Given the description of an element on the screen output the (x, y) to click on. 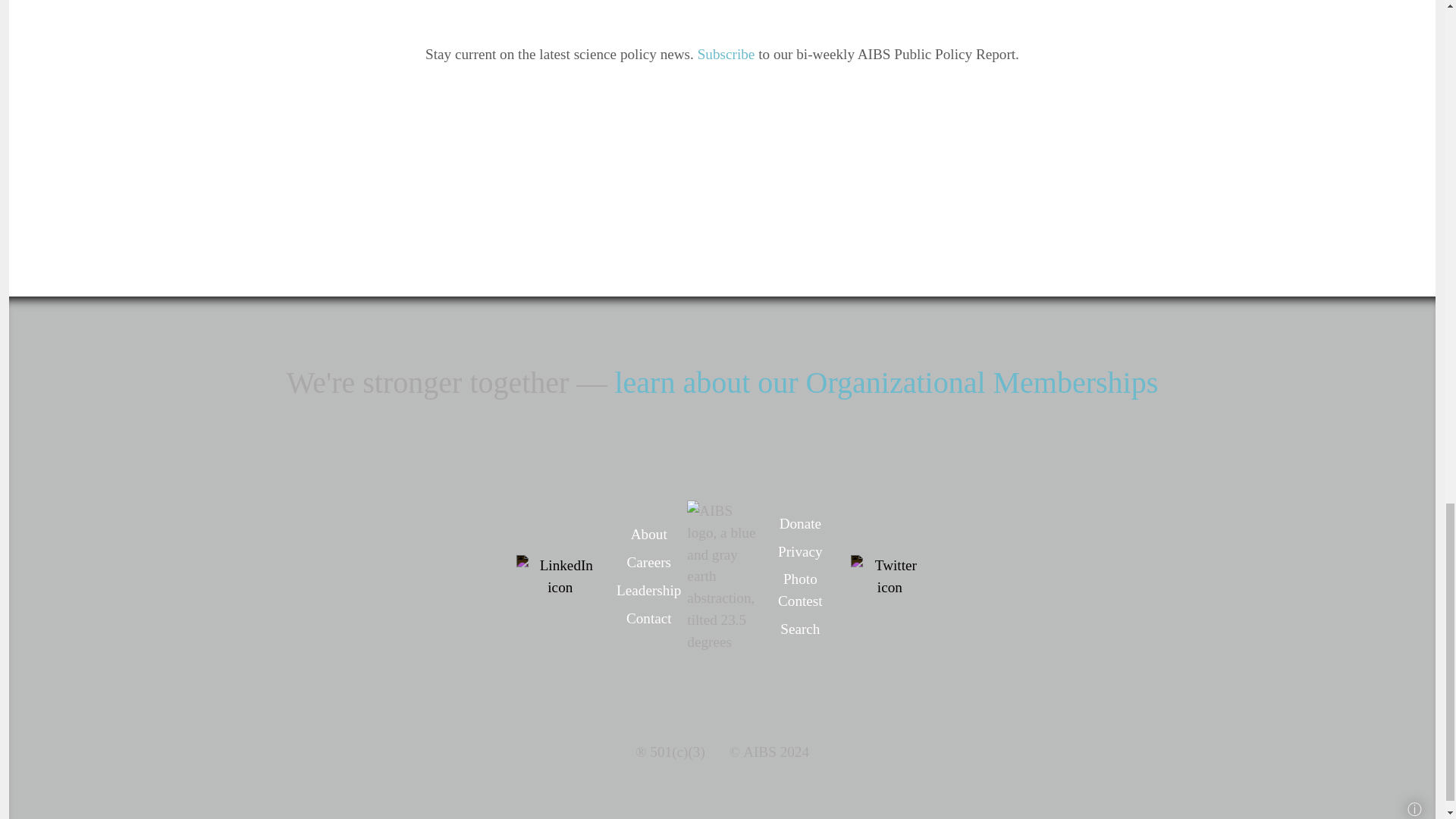
Privacy (799, 551)
learn about our Organizational Memberships (885, 382)
About (648, 534)
Contact (648, 618)
Donate (799, 523)
Photo Contest (799, 589)
Subscribe (726, 53)
Careers (648, 562)
Search (799, 628)
Leadership (648, 590)
